Given the description of an element on the screen output the (x, y) to click on. 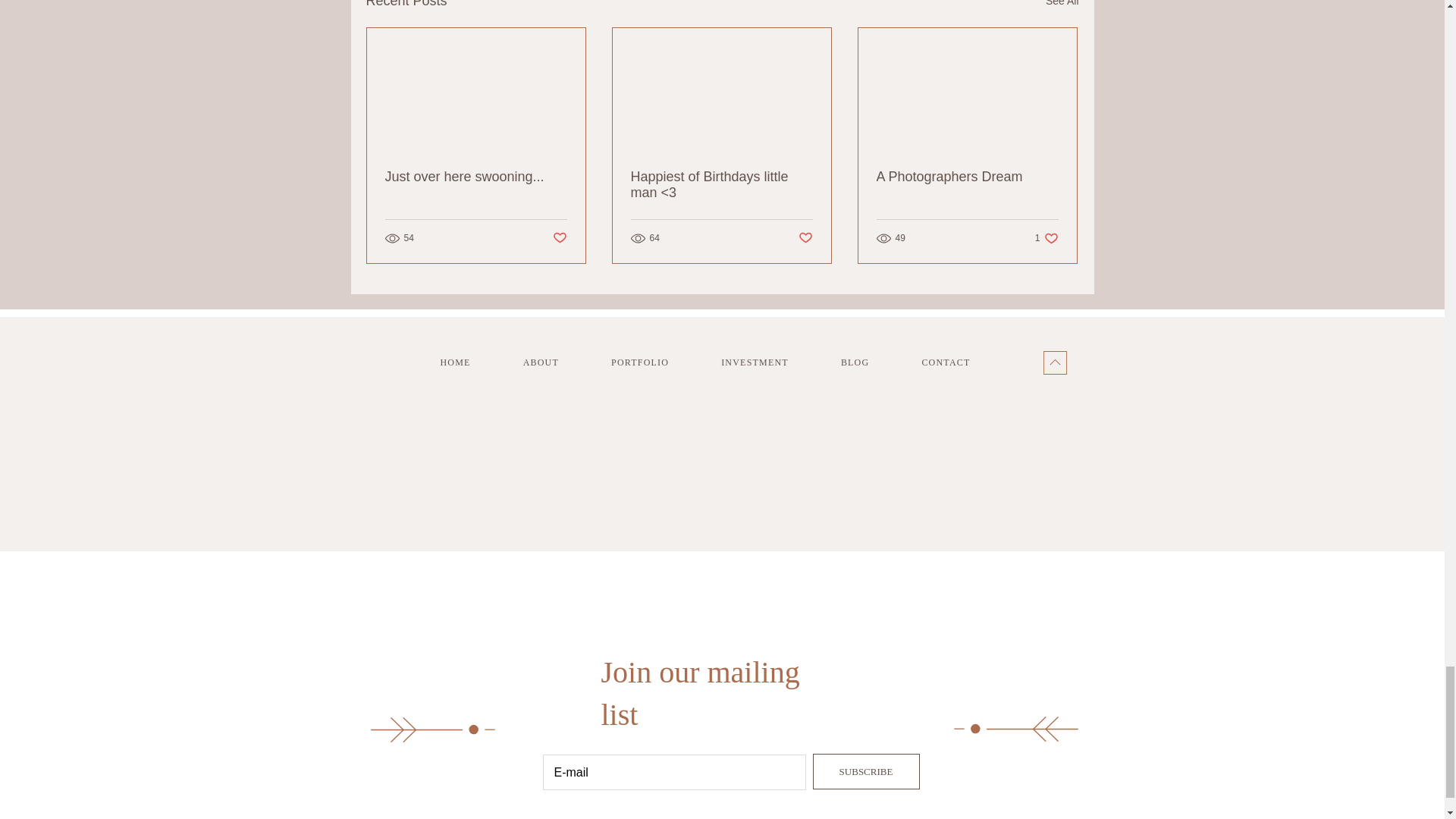
Post not marked as liked (1046, 237)
Post not marked as liked (558, 238)
Just over here swooning... (804, 238)
HOME (476, 176)
INVESTMENT (470, 362)
ABOUT (770, 362)
PORTFOLIO (555, 362)
A Photographers Dream (655, 362)
See All (967, 176)
BLOG (1061, 6)
